Given the description of an element on the screen output the (x, y) to click on. 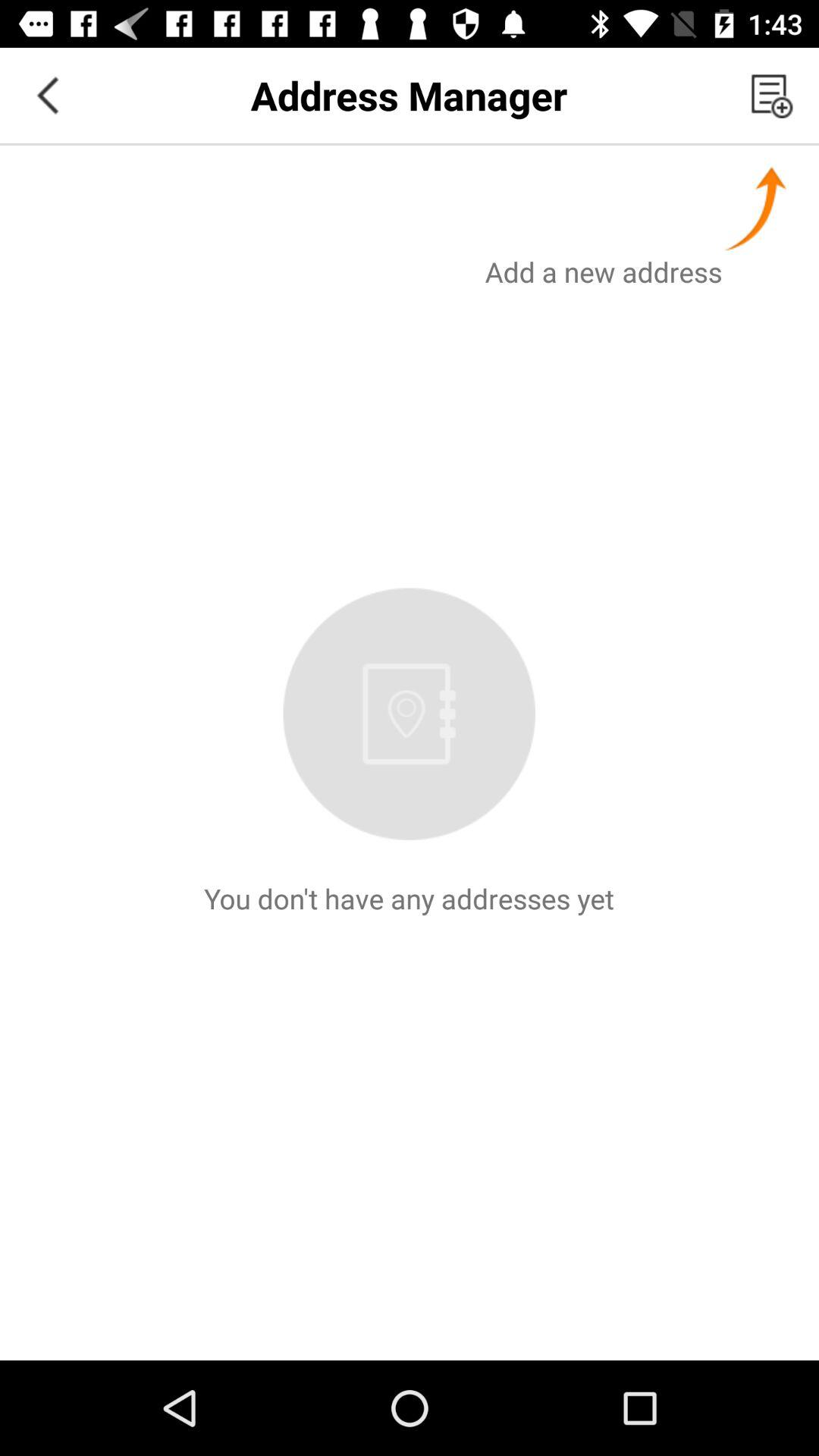
turn on the item to the left of the address manager app (47, 95)
